Given the description of an element on the screen output the (x, y) to click on. 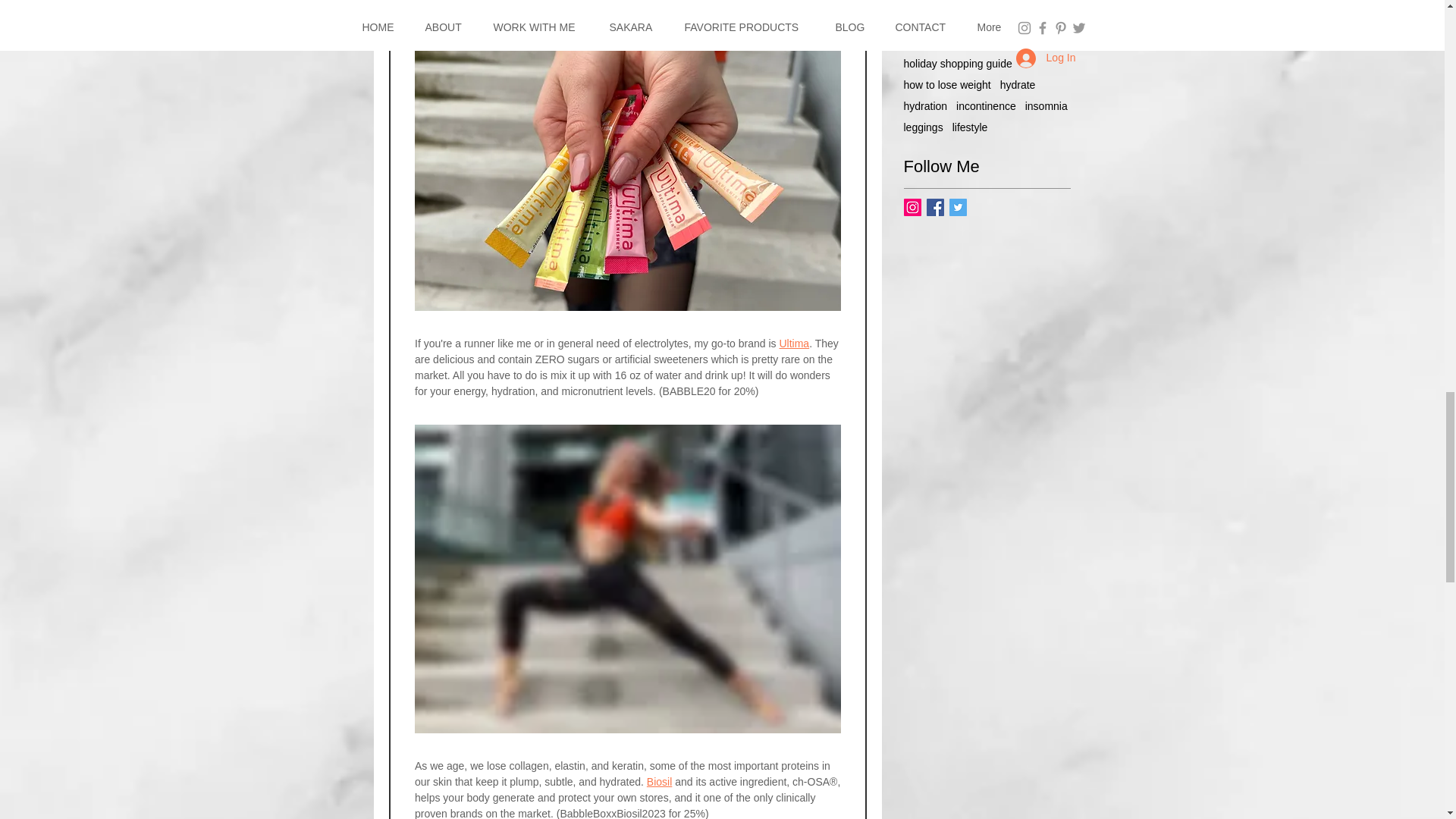
Ultima (793, 343)
Biosil (658, 781)
